Given the description of an element on the screen output the (x, y) to click on. 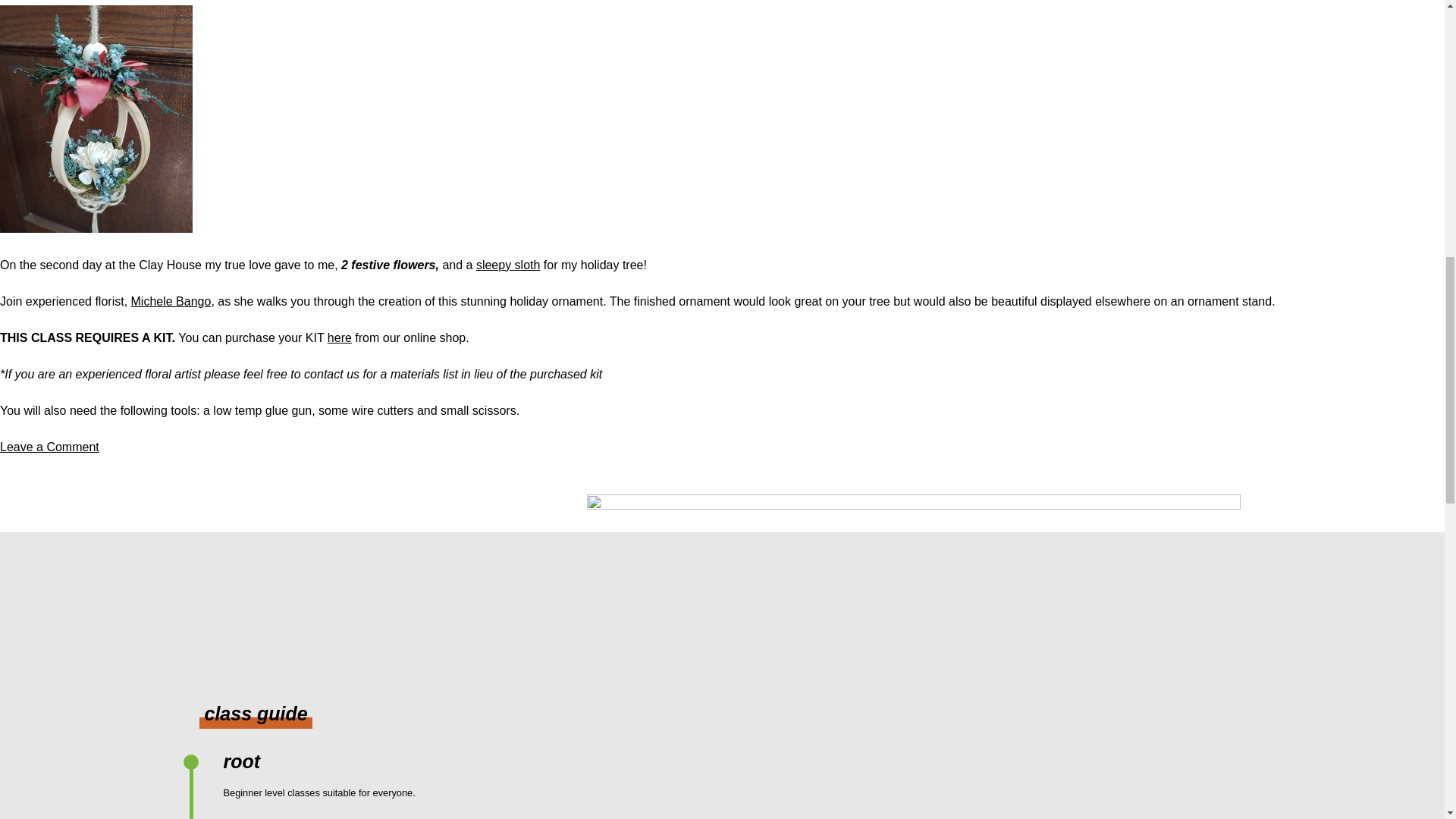
Michele Bango (171, 300)
sleepy sloth (508, 264)
here (49, 446)
